Given the description of an element on the screen output the (x, y) to click on. 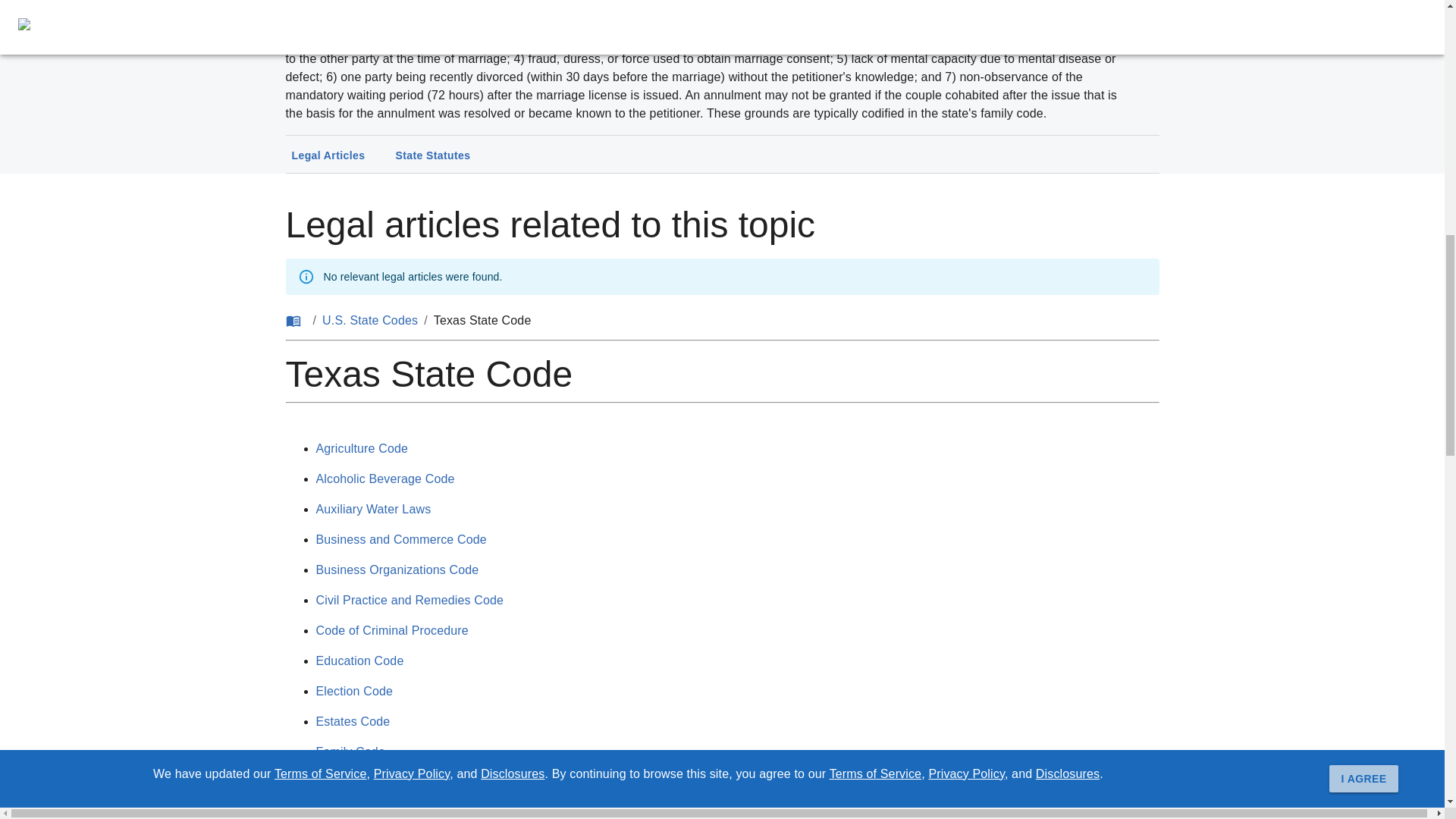
Legal Articles (328, 156)
State Statutes (432, 156)
Election Code (354, 690)
Agriculture Code (361, 448)
Business Organizations Code (397, 569)
Auxiliary Water Laws (372, 508)
Civil Practice and Remedies Code (409, 599)
Education Code (359, 660)
Business and Commerce Code (400, 539)
Government Code (365, 812)
